Given the description of an element on the screen output the (x, y) to click on. 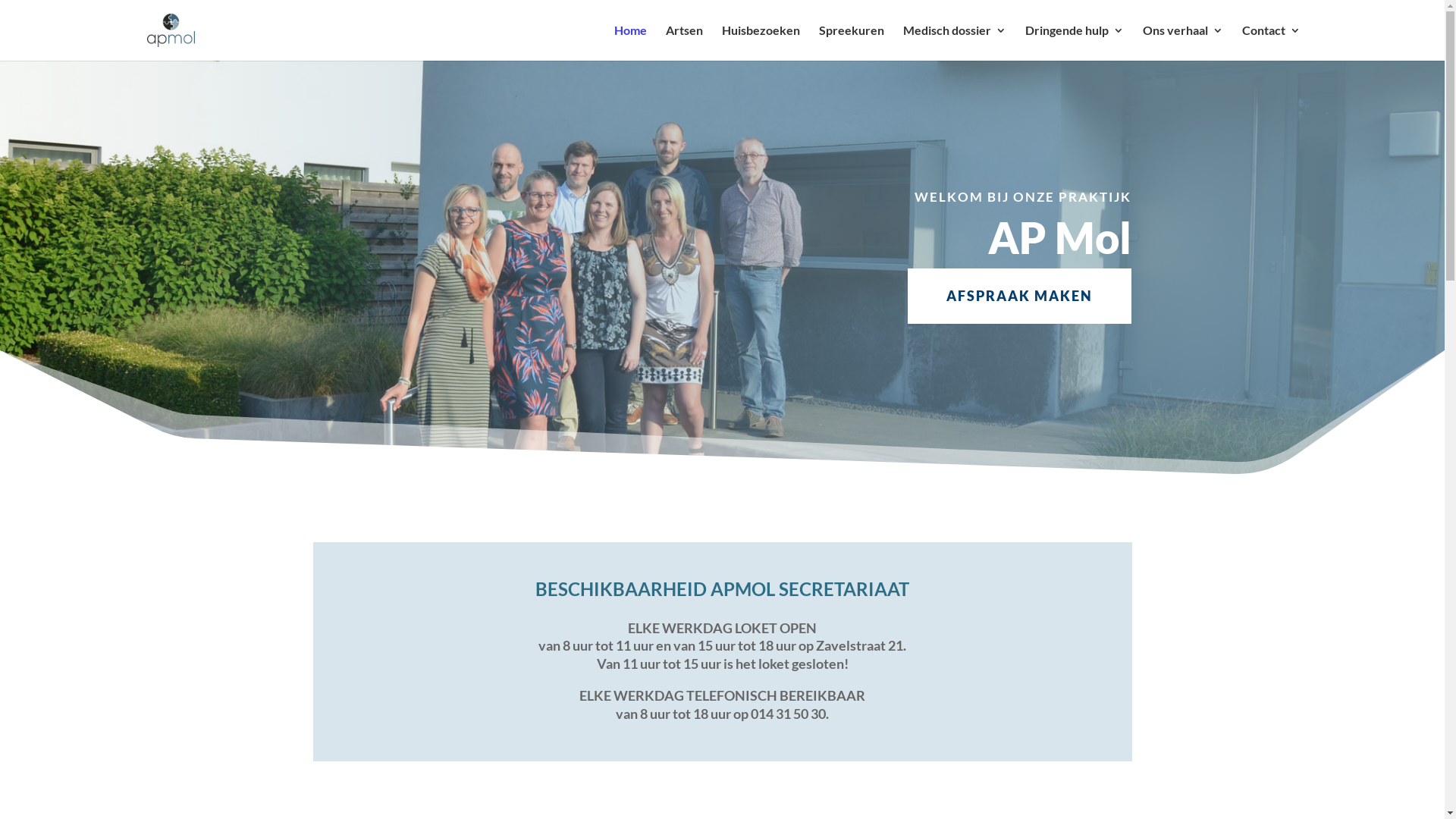
Artsen Element type: text (683, 42)
Contact Element type: text (1271, 42)
Spreekuren Element type: text (851, 42)
Medisch dossier Element type: text (953, 42)
Home Element type: text (630, 42)
AFSPRAAK MAKEN Element type: text (1019, 295)
Huisbezoeken Element type: text (760, 42)
Ons verhaal Element type: text (1182, 42)
Dringende hulp Element type: text (1074, 42)
